Given the description of an element on the screen output the (x, y) to click on. 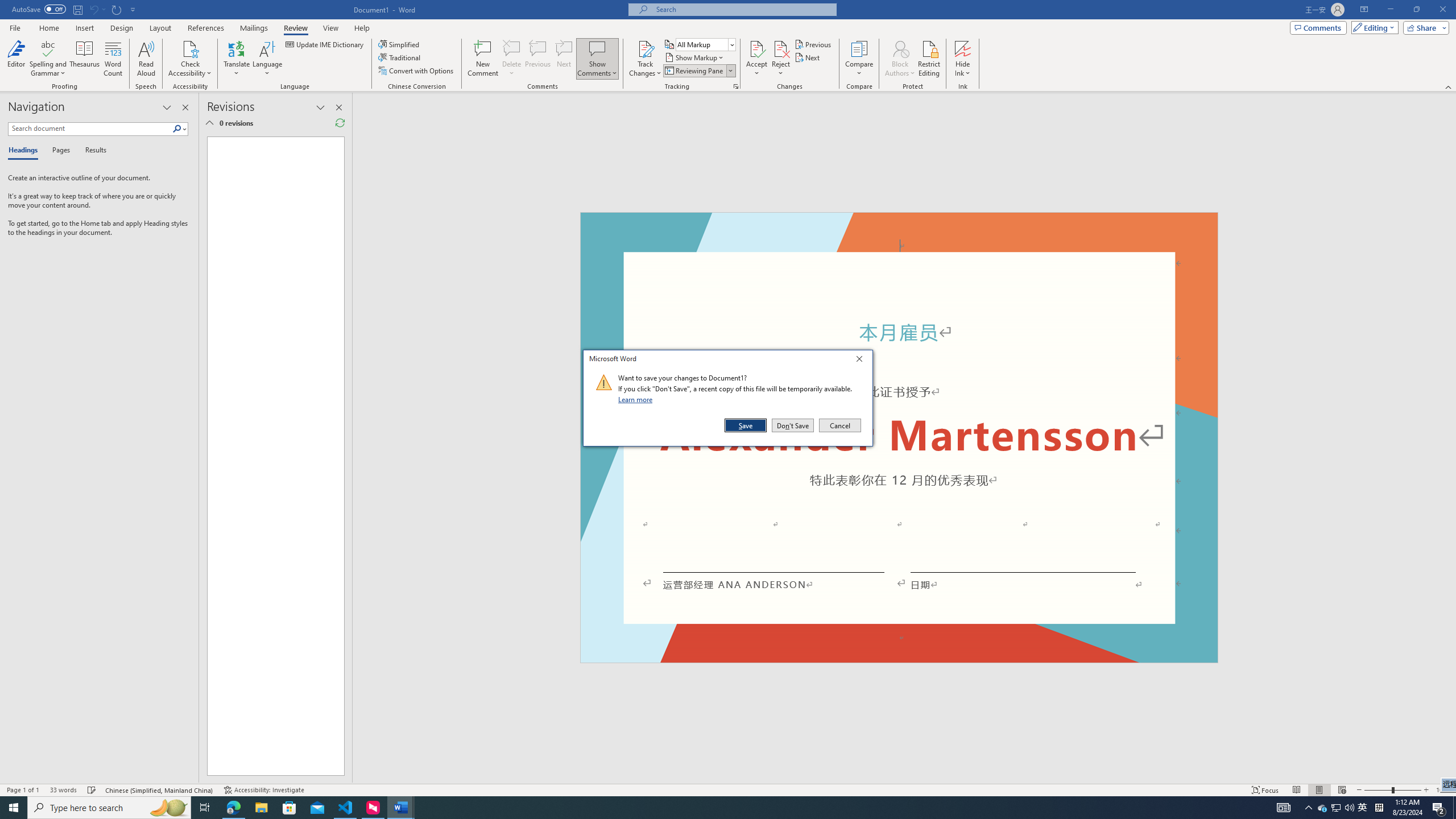
Thesaurus... (84, 58)
Tray Input Indicator - Chinese (Simplified, China) (1378, 807)
Check Accessibility (189, 48)
Word - 2 running windows (400, 807)
Help (361, 28)
Start (13, 807)
Accessibility Checker Accessibility: Investigate (263, 790)
System (6, 6)
Running applications (700, 807)
Comments (1318, 27)
Focus  (1265, 790)
Design (122, 28)
Task View (204, 807)
Action Center, 2 new notifications (1439, 807)
Check Accessibility (189, 58)
